Given the description of an element on the screen output the (x, y) to click on. 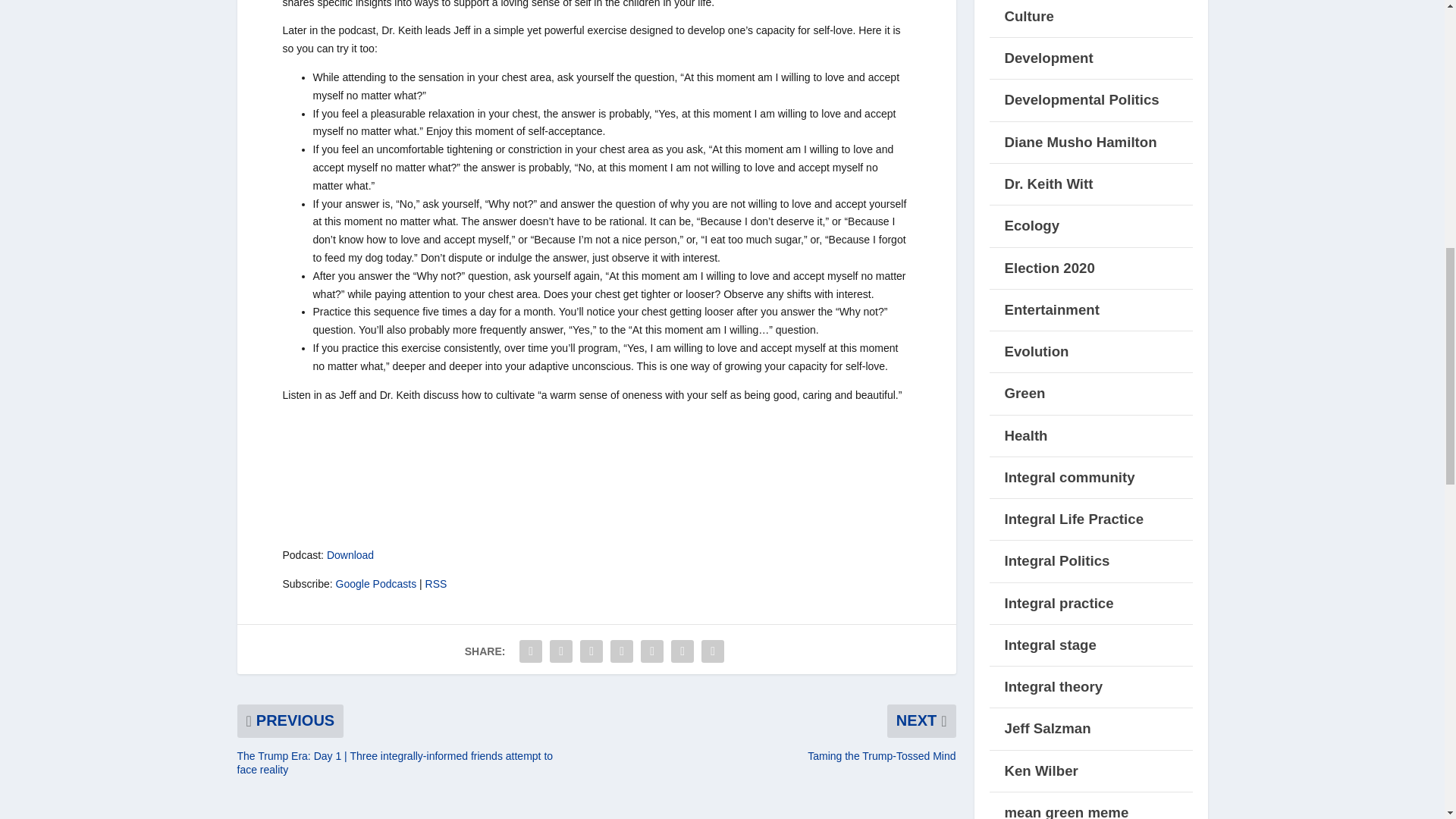
Download (350, 554)
Google Podcasts (376, 583)
Subscribe via RSS (435, 583)
Download (350, 554)
RSS (435, 583)
Subscribe on Google Podcasts (376, 583)
